Given the description of an element on the screen output the (x, y) to click on. 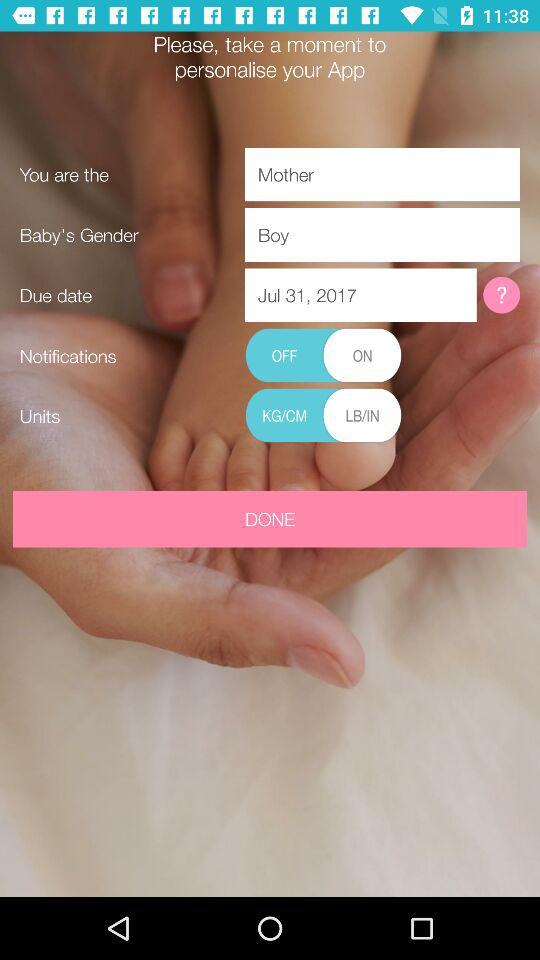
notification oppoin (323, 355)
